Given the description of an element on the screen output the (x, y) to click on. 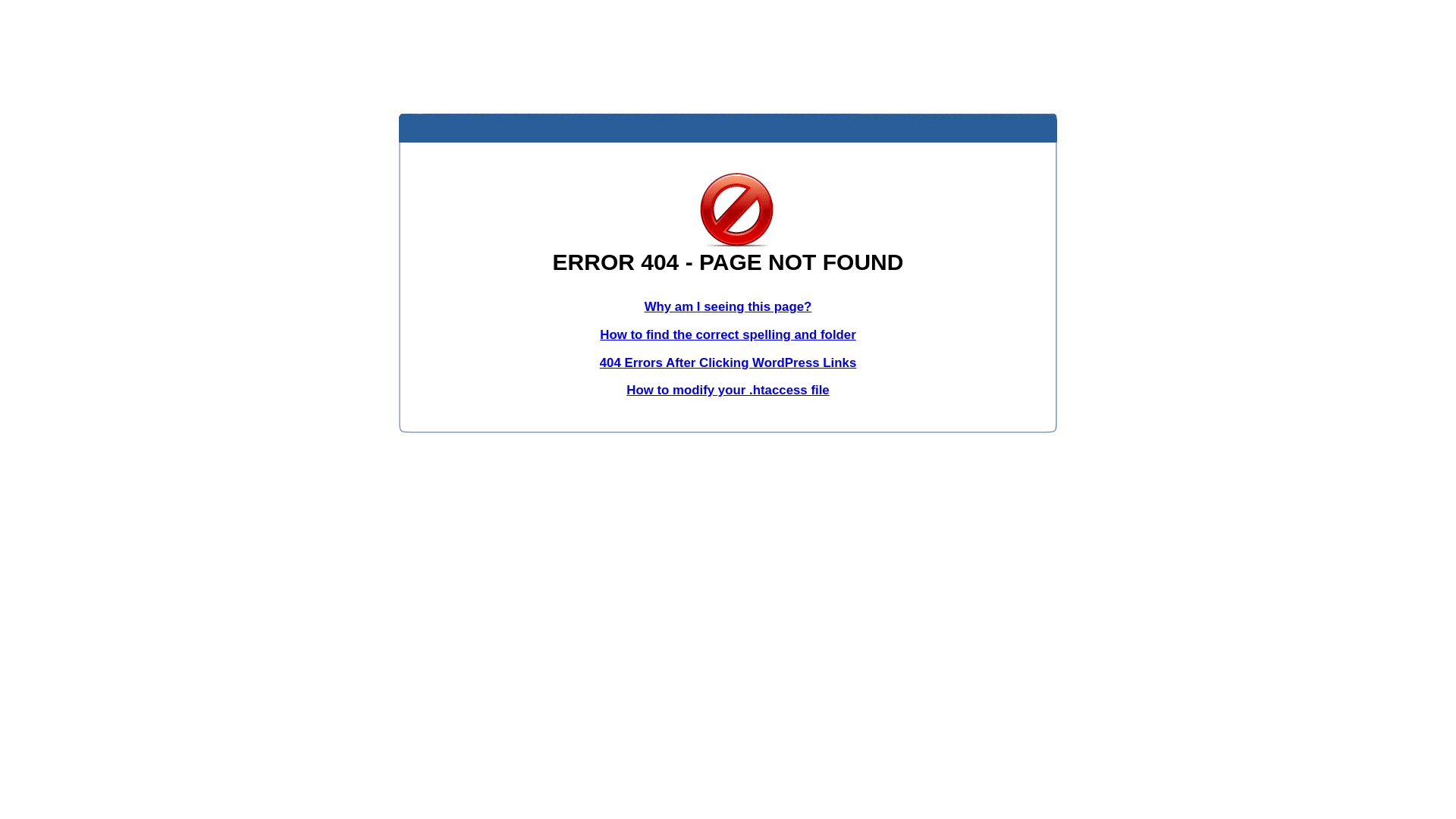
Why am I seeing this page? Element type: text (728, 306)
404 Errors After Clicking WordPress Links Element type: text (727, 362)
How to find the correct spelling and folder Element type: text (727, 334)
How to modify your .htaccess file Element type: text (727, 389)
